Given the description of an element on the screen output the (x, y) to click on. 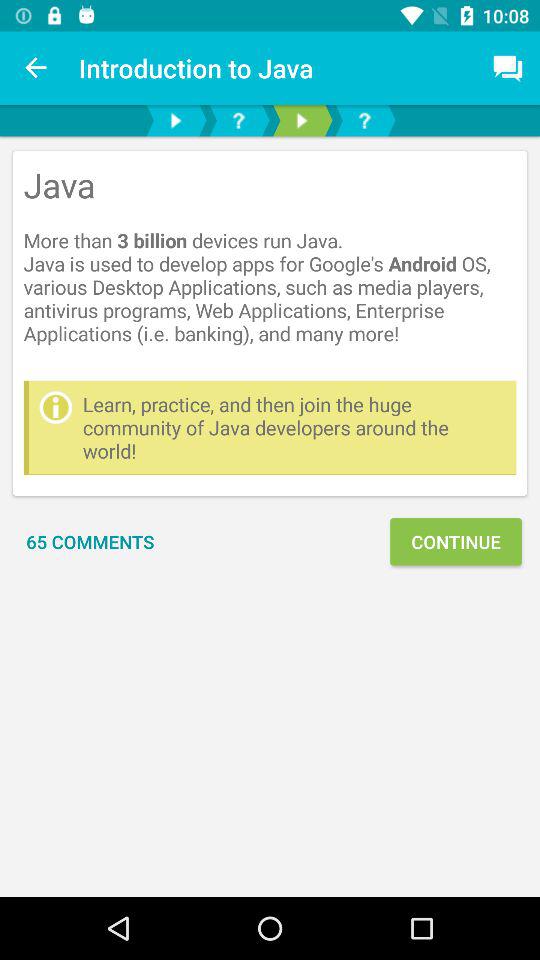
turn on the item at the center (293, 427)
